Given the description of an element on the screen output the (x, y) to click on. 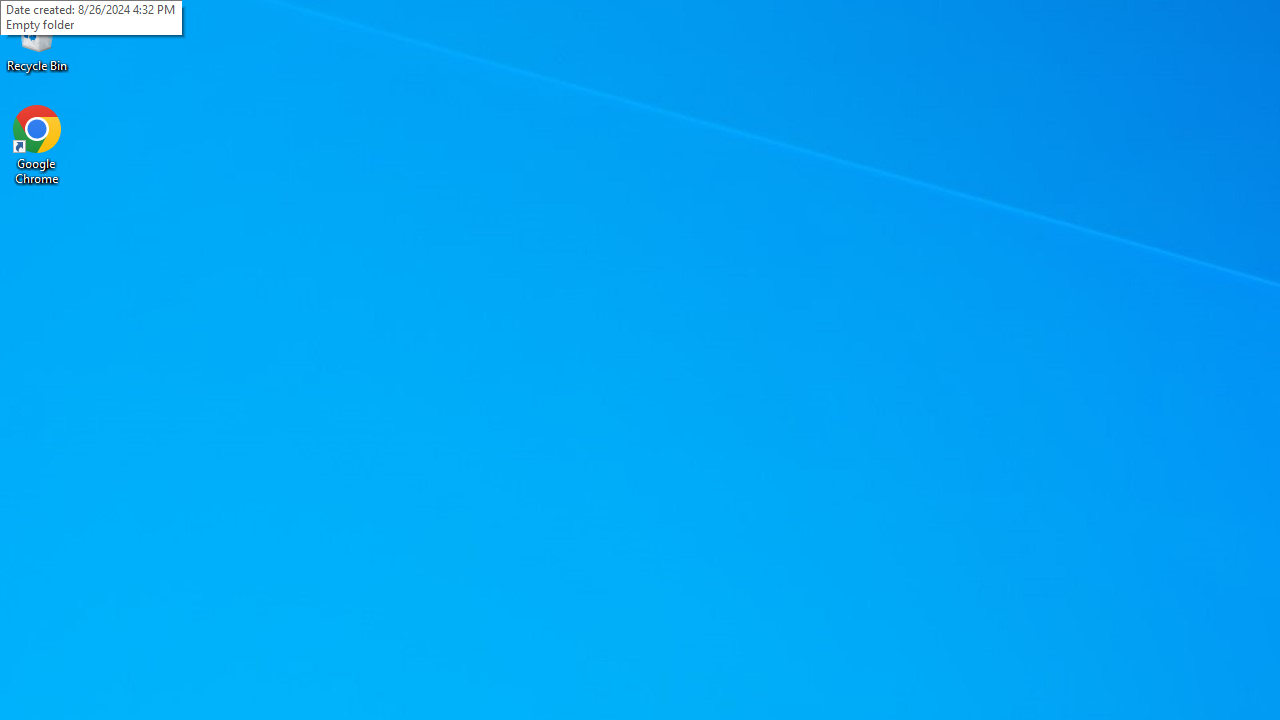
Google Chrome (37, 144)
Recycle Bin (37, 39)
